Given the description of an element on the screen output the (x, y) to click on. 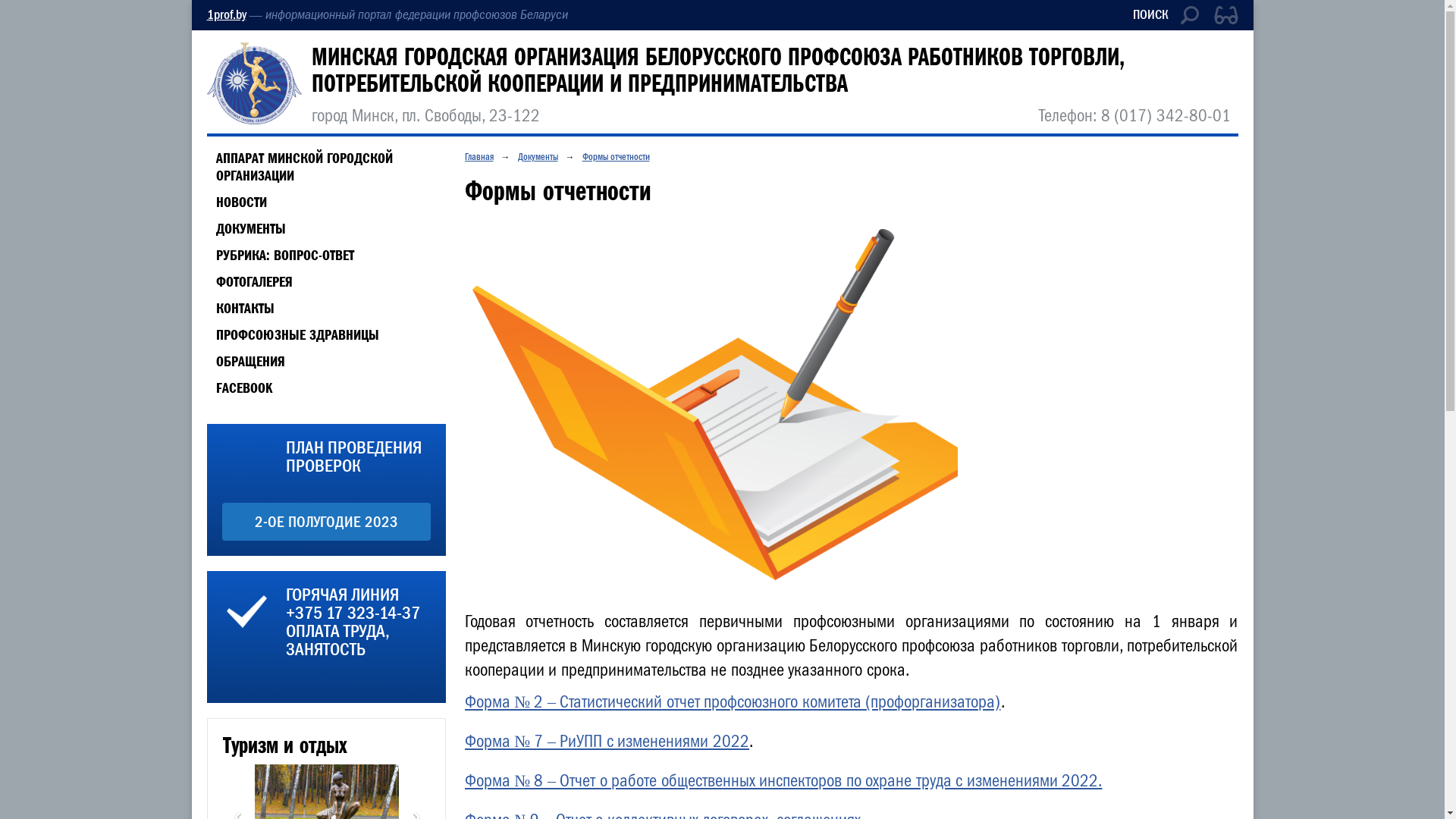
FACEBOOK Element type: text (239, 387)
1prof.by Element type: text (225, 14)
